Given the description of an element on the screen output the (x, y) to click on. 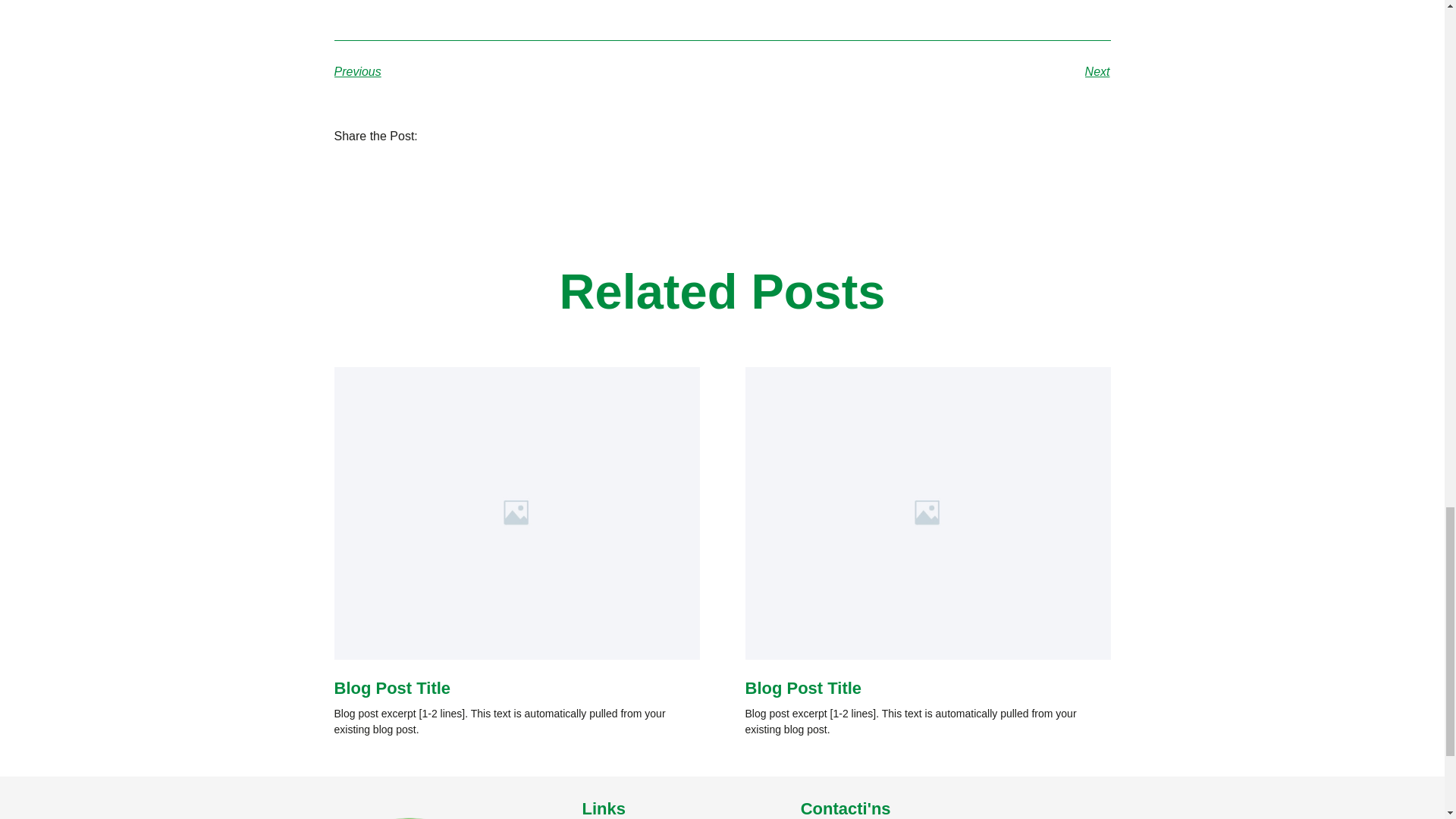
Previous (527, 72)
Blog Post Title (391, 687)
Blog Post Title (802, 687)
Next (915, 72)
Read More (363, 766)
Read More (774, 766)
